Given the description of an element on the screen output the (x, y) to click on. 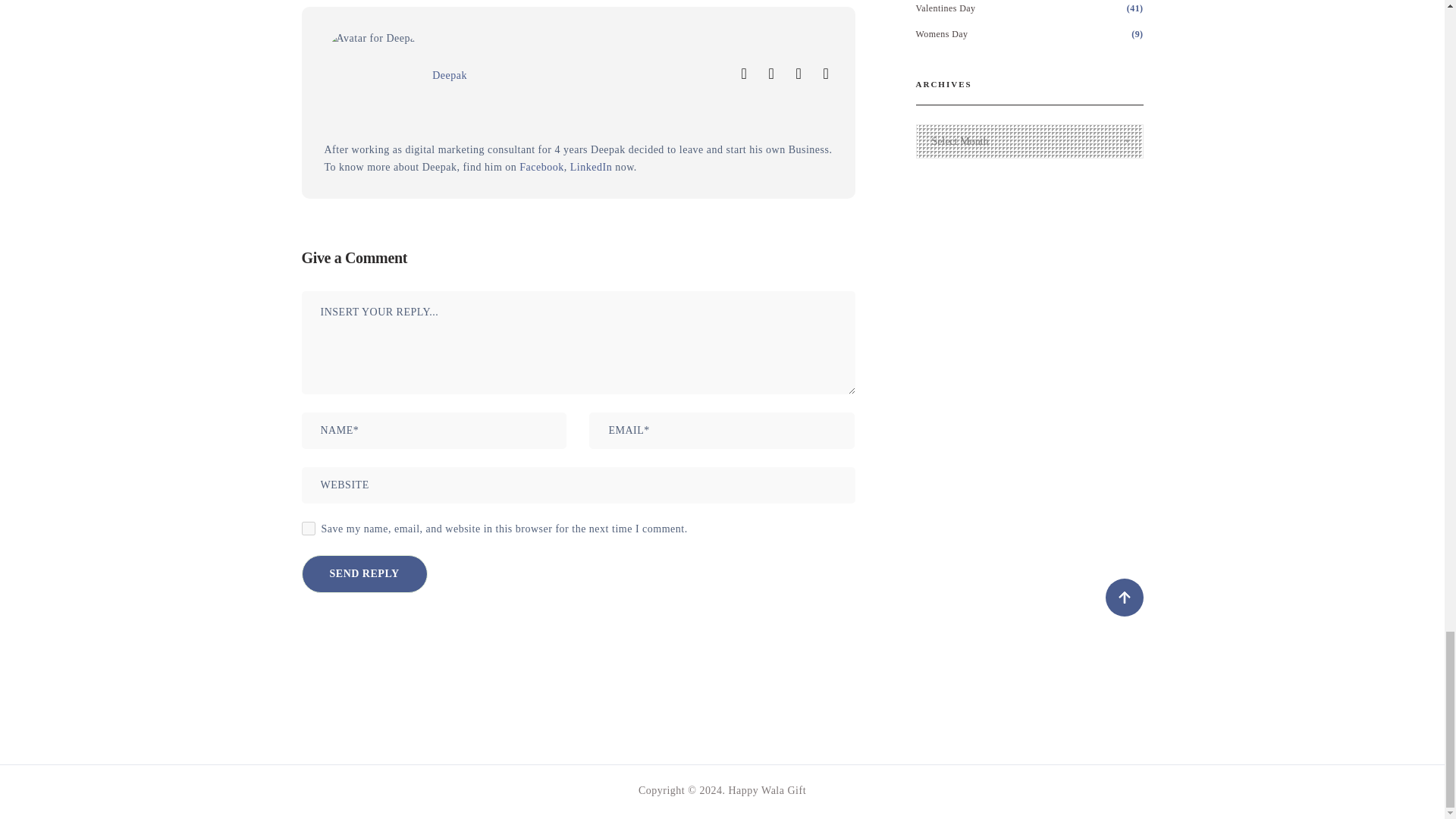
on (308, 528)
Send Reply (364, 573)
Gravatar for Deepak (373, 77)
